Given the description of an element on the screen output the (x, y) to click on. 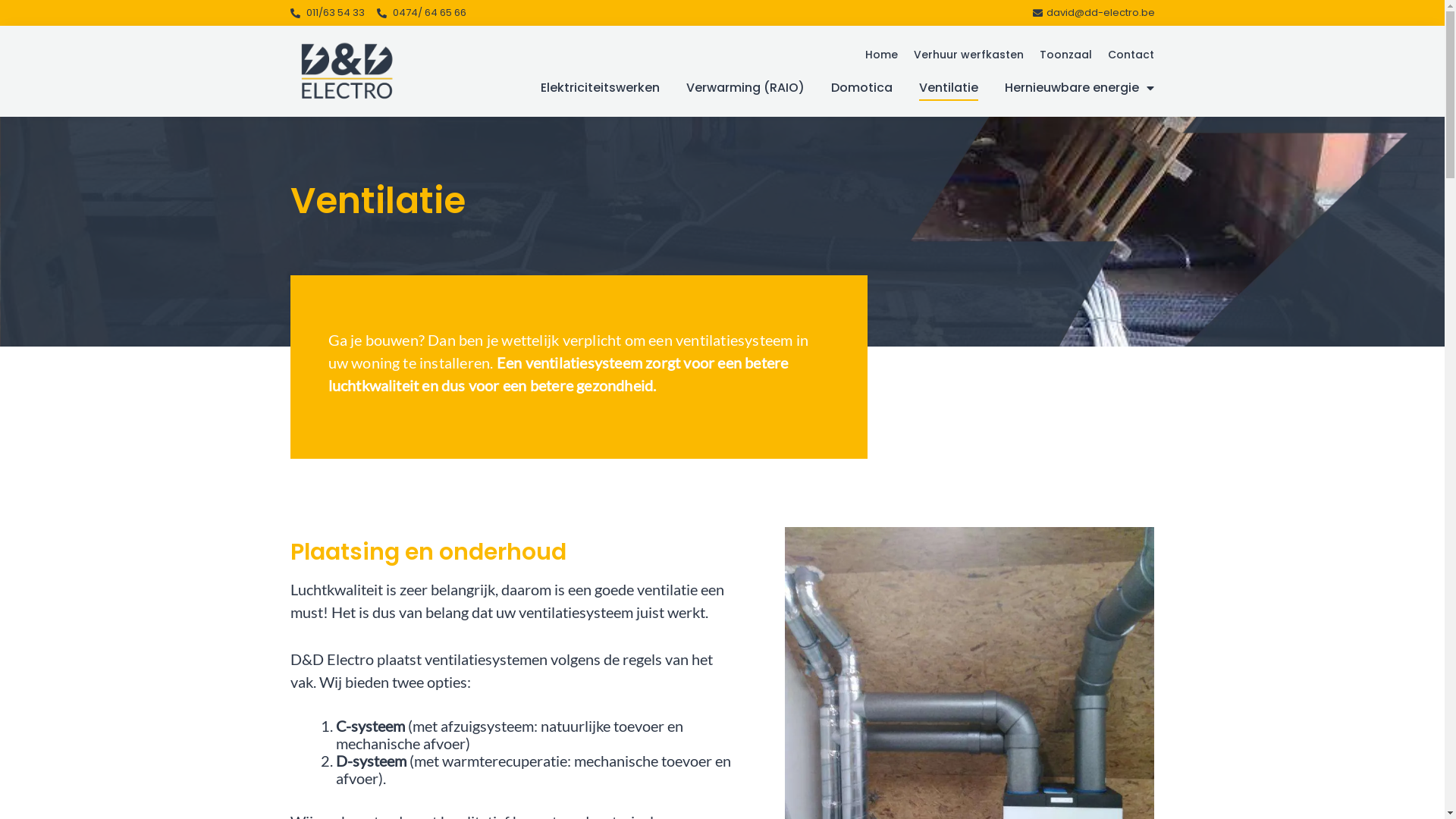
david@dd-electro.be Element type: text (1091, 12)
Verhuur werfkasten Element type: text (968, 54)
Home Element type: text (881, 54)
Contact Element type: text (1130, 54)
Elektriciteitswerken Element type: text (599, 87)
Toonzaal Element type: text (1065, 54)
Hernieuwbare energie Element type: text (1079, 87)
0474/ 64 65 66 Element type: text (421, 12)
Domotica Element type: text (861, 87)
Ventilatie Element type: text (948, 87)
Verwarming (RAIO) Element type: text (745, 87)
011/63 54 33 Element type: text (326, 12)
